Given the description of an element on the screen output the (x, y) to click on. 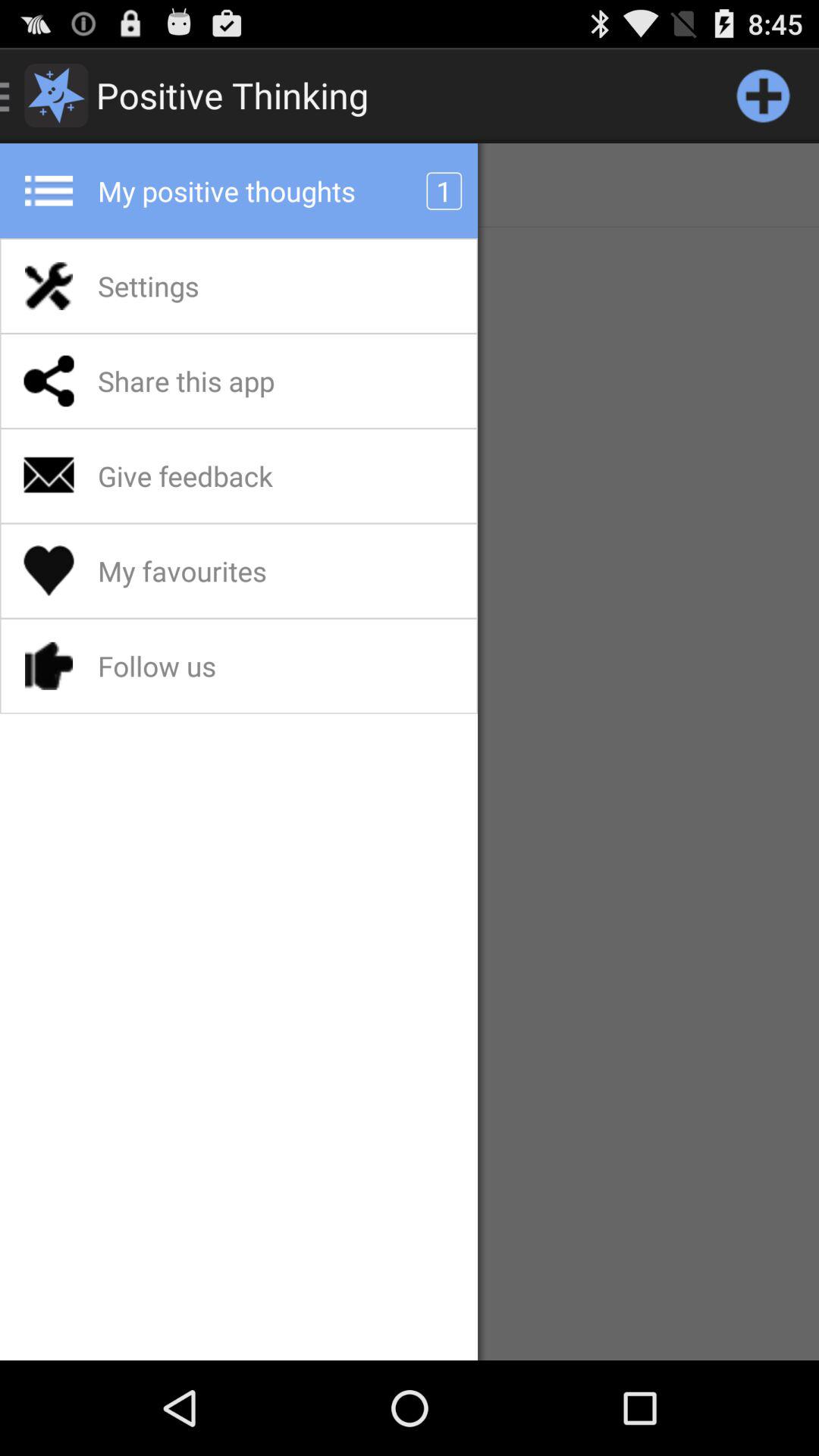
launch the share this app (225, 380)
